Given the description of an element on the screen output the (x, y) to click on. 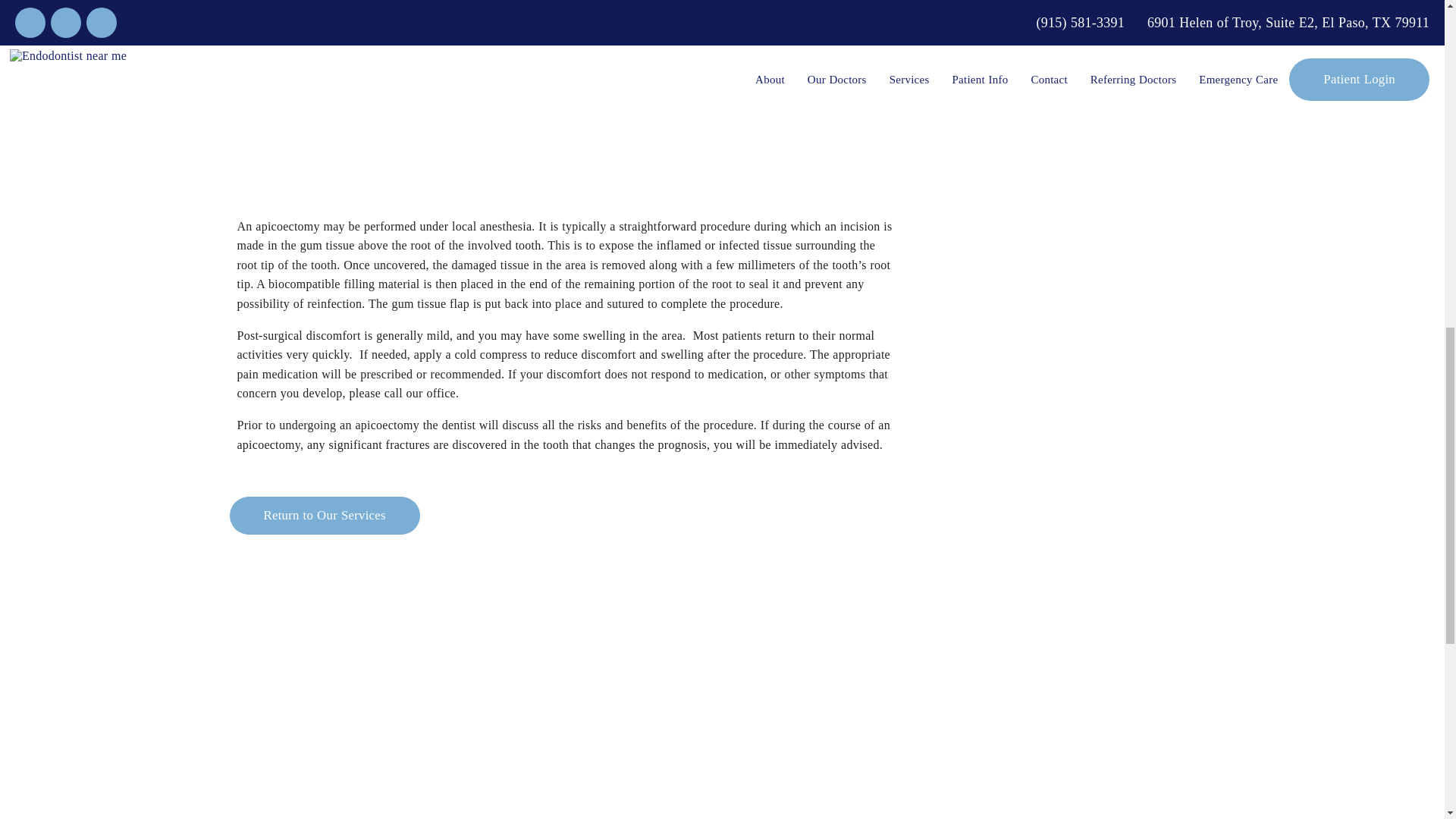
Return to Our Services (323, 515)
